Given the description of an element on the screen output the (x, y) to click on. 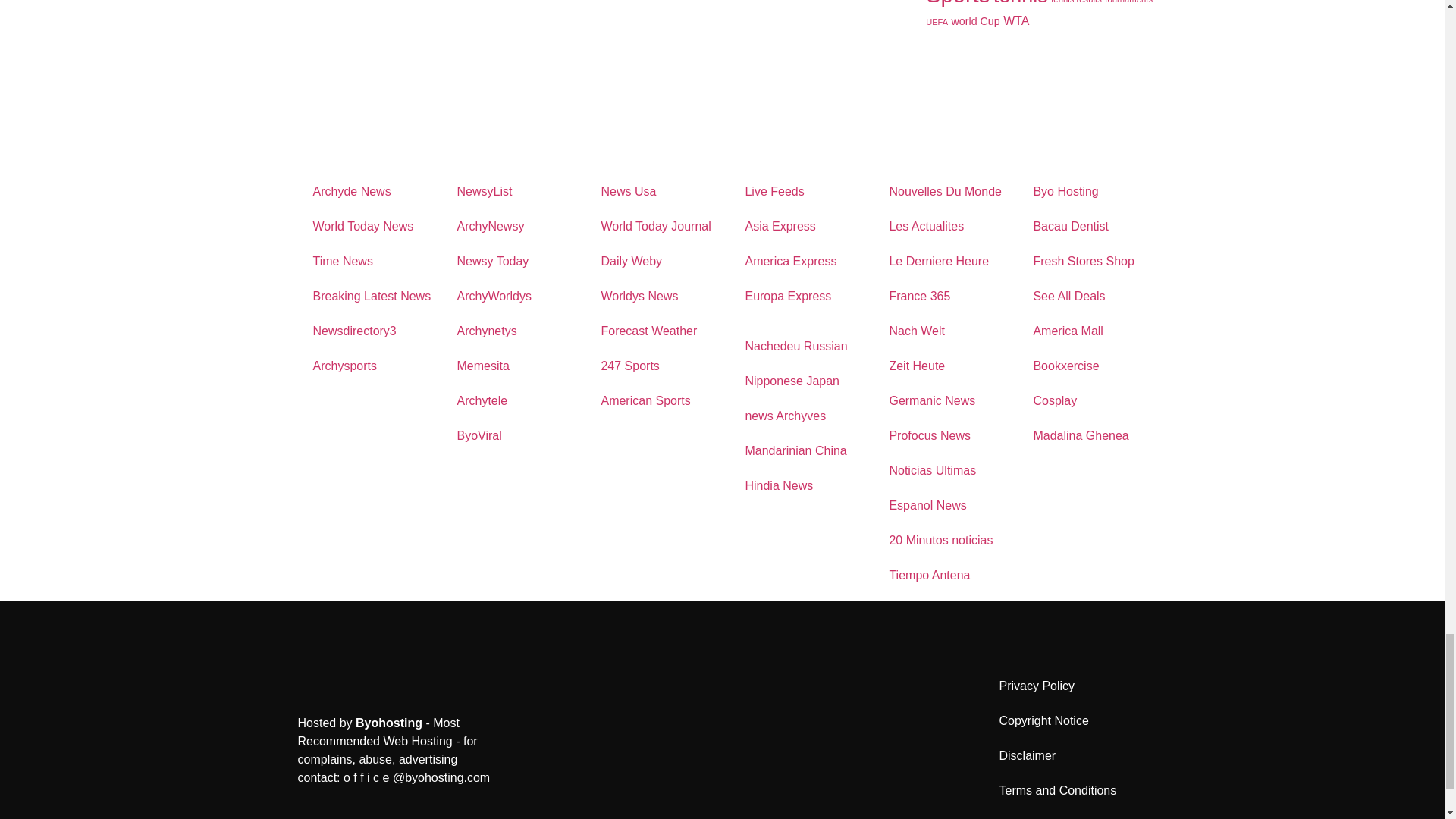
Most Recommended WebHosting (388, 722)
